Given the description of an element on the screen output the (x, y) to click on. 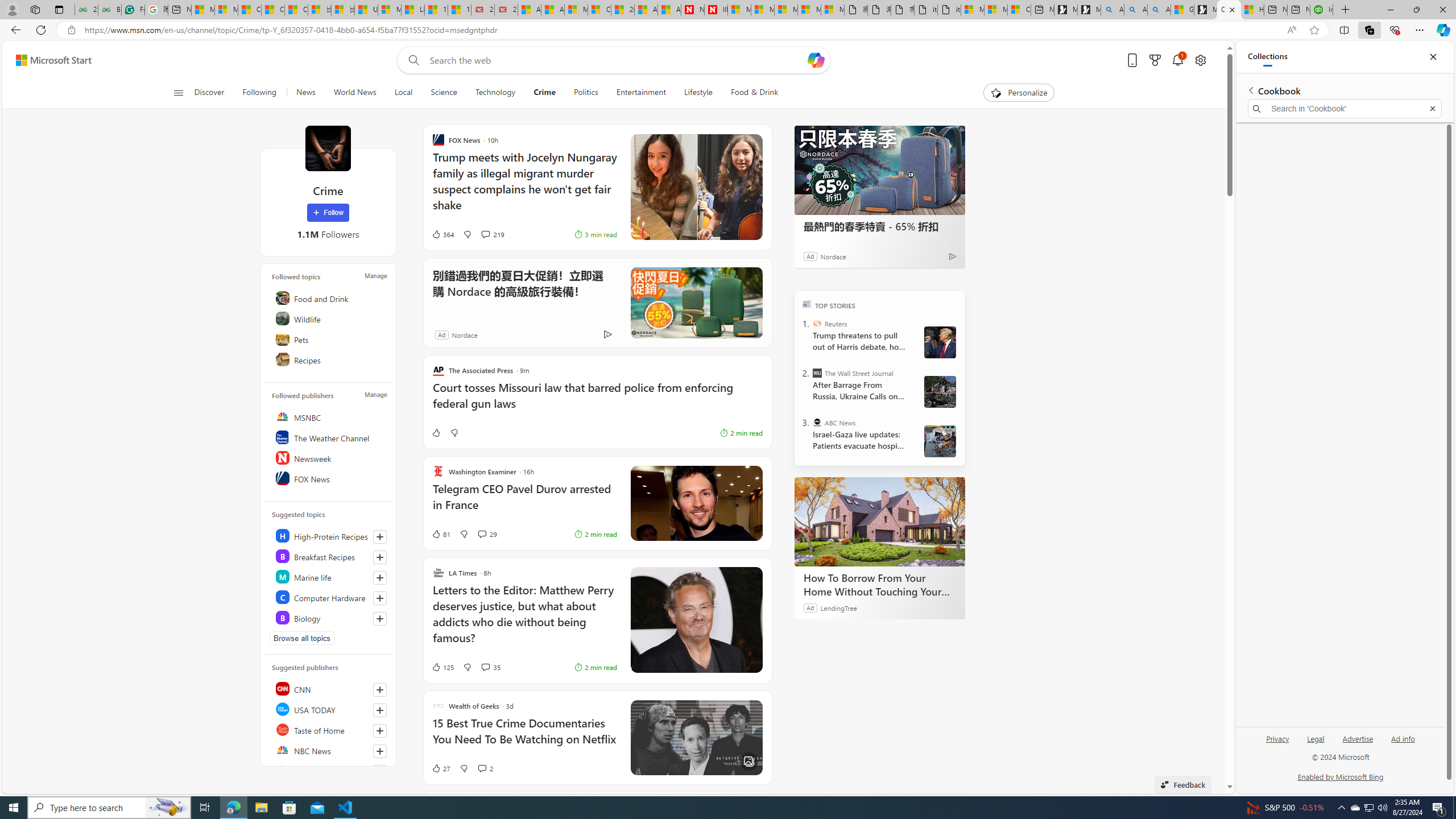
View comments 29 Comment (487, 533)
View comments 2 Comment (481, 768)
Search in 'Cookbook' (1345, 108)
Lifestyle - MSN (412, 9)
125 Like (442, 667)
View comments 219 Comment (492, 233)
